Given the description of an element on the screen output the (x, y) to click on. 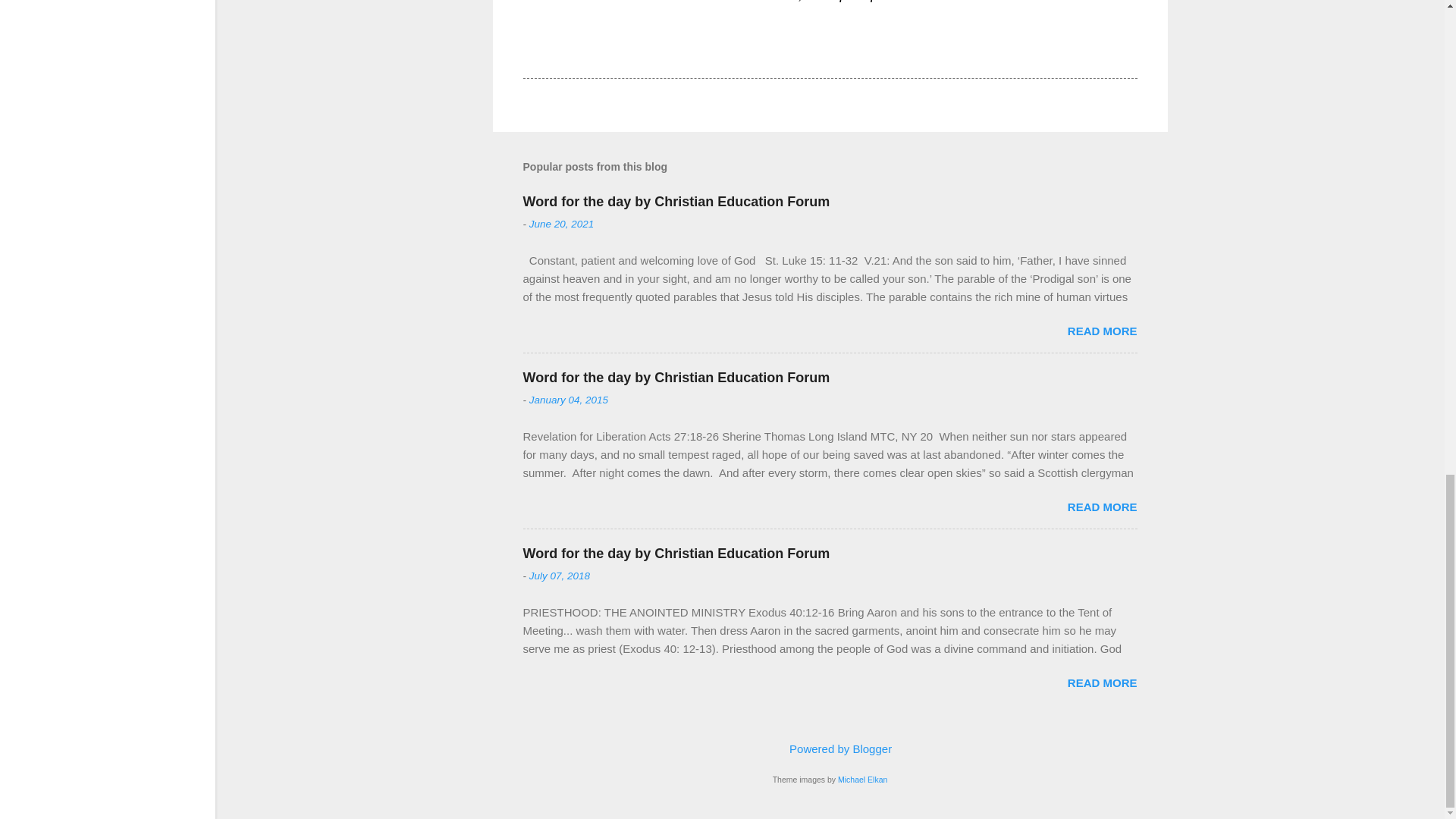
Word for the day by Christian Education Forum (675, 553)
READ MORE (1102, 506)
Michael Elkan (862, 778)
January 04, 2015 (568, 399)
Word for the day by Christian Education Forum (675, 201)
Powered by Blogger (829, 748)
READ MORE (1102, 682)
June 20, 2021 (561, 224)
July 07, 2018 (559, 575)
permanent link (561, 224)
